Given the description of an element on the screen output the (x, y) to click on. 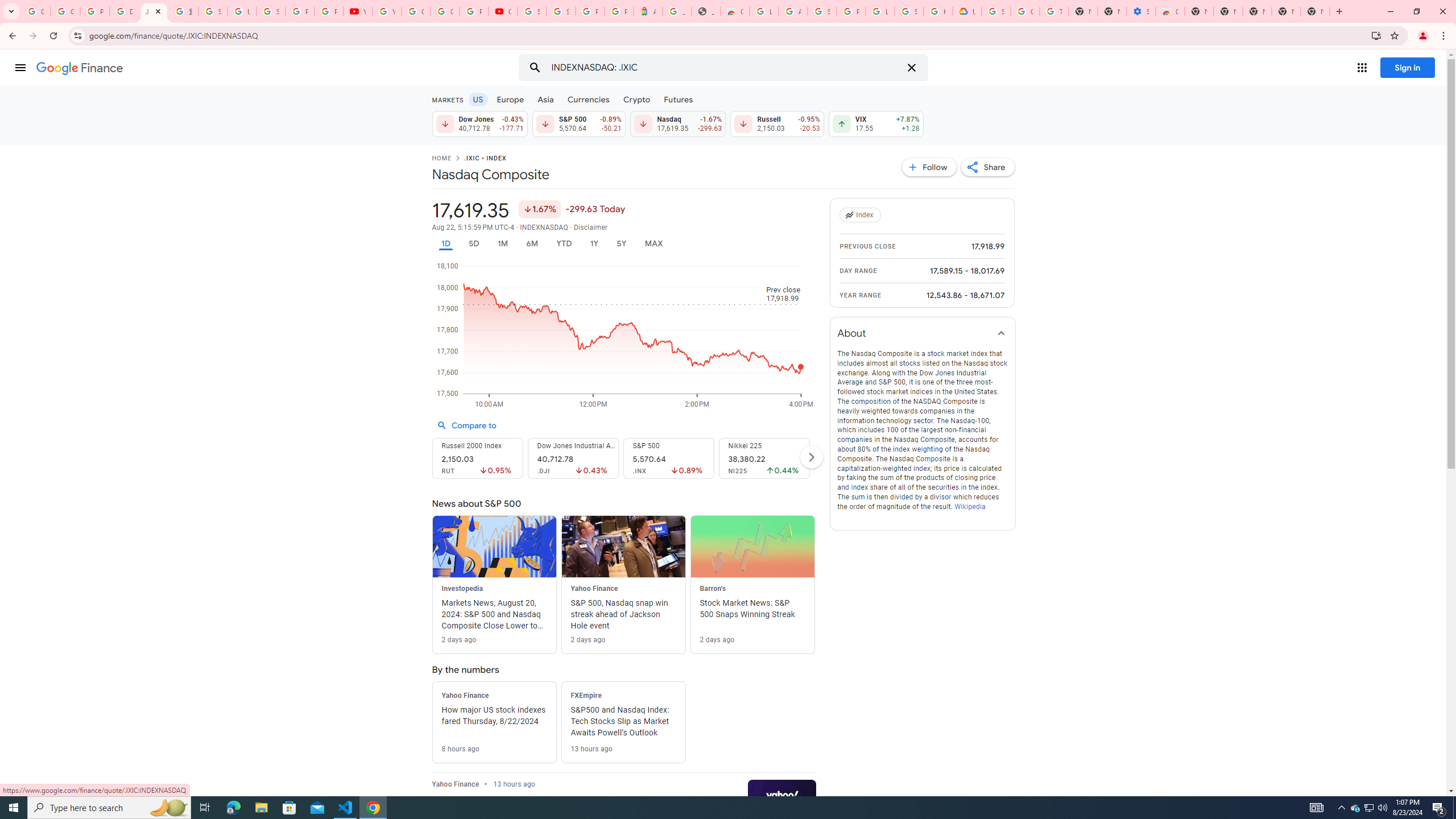
Sign in - Google Accounts (908, 11)
Create your Google Account (444, 11)
Nasdaq 17,619.35 Down by 1.67% -299.63 (678, 123)
Turn cookies on or off - Computer - Google Account Help (1054, 11)
HOME (440, 158)
YouTube (386, 11)
6M (531, 243)
Dow Jones 40,712.78 Down by 0.43% -177.71 (478, 123)
